Given the description of an element on the screen output the (x, y) to click on. 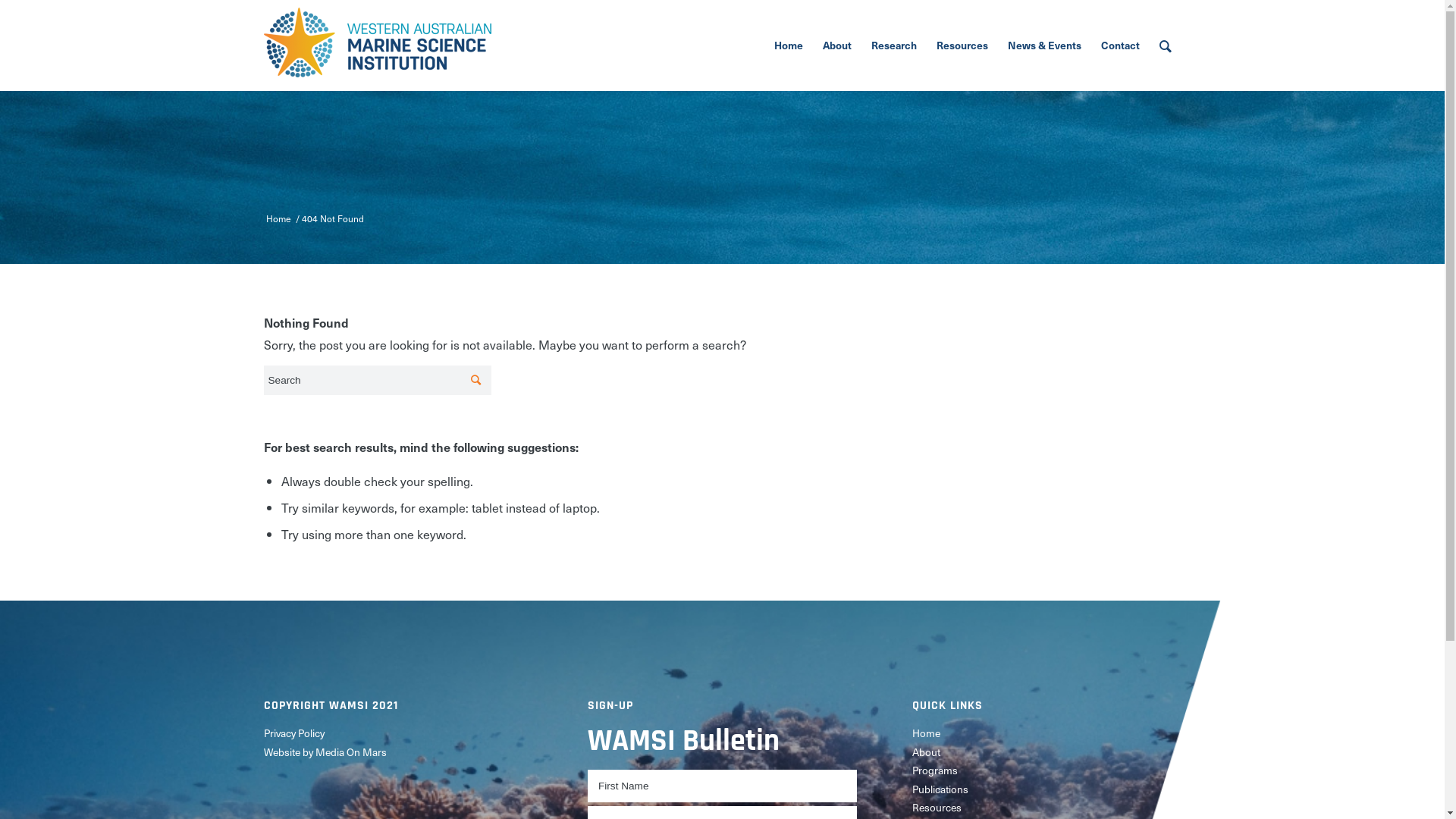
Home Element type: text (1046, 733)
Resources Element type: text (961, 45)
Website by Media On Mars Element type: text (398, 752)
Privacy Policy Element type: text (398, 733)
News & Events Element type: text (1044, 45)
Home Element type: text (278, 218)
Resources Element type: text (1046, 807)
Research Element type: text (893, 45)
Publications Element type: text (1046, 789)
Contact Element type: text (1119, 45)
Home Element type: text (788, 45)
About Element type: text (836, 45)
About Element type: text (1046, 752)
Programs Element type: text (1046, 770)
